Given the description of an element on the screen output the (x, y) to click on. 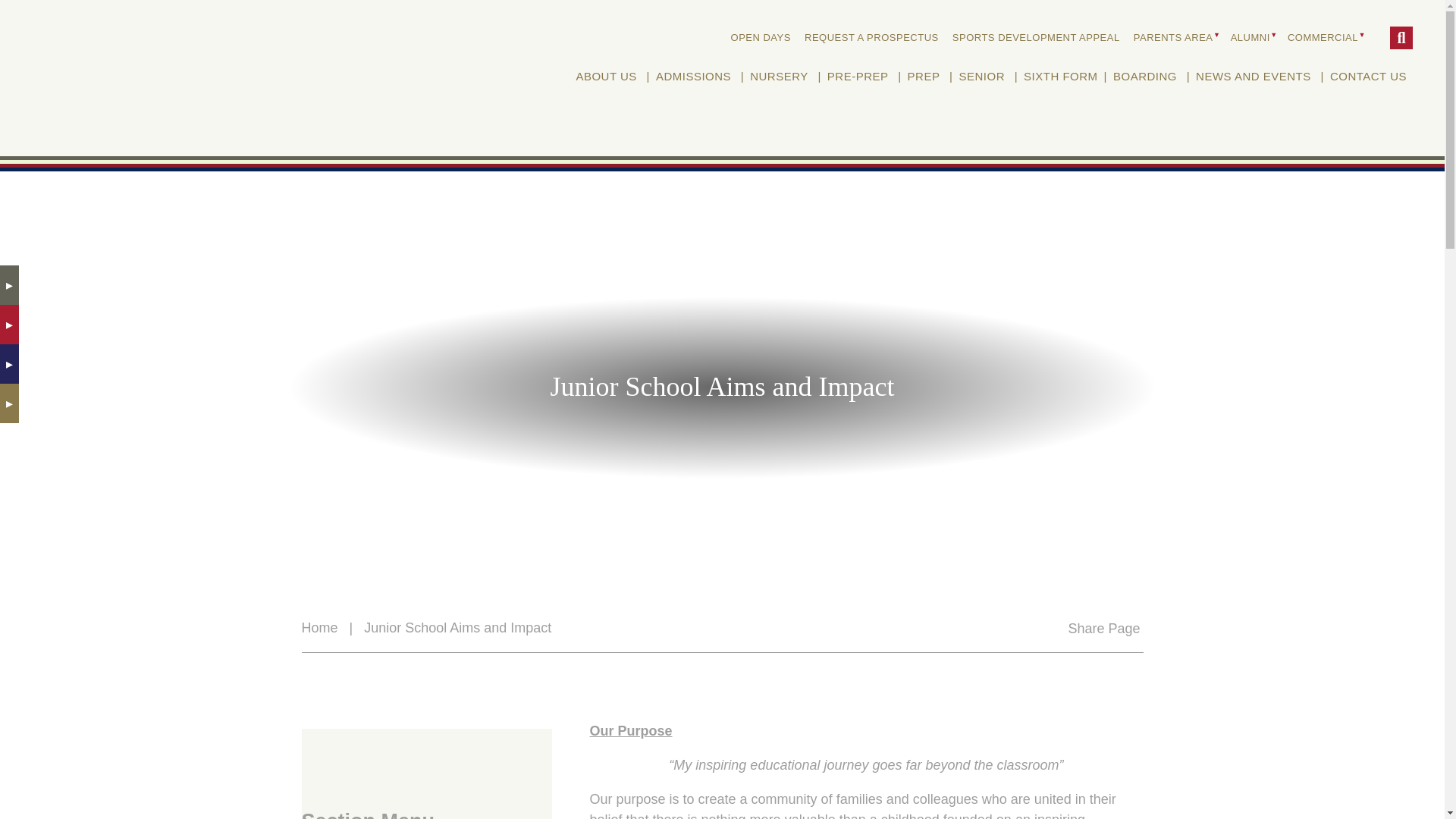
REQUEST A PROSPECTUS (871, 37)
ADMISSIONS (692, 76)
Search (1401, 37)
OPEN DAYS (760, 37)
ABOUT US (605, 76)
ALUMNI (1252, 37)
SPORTS DEVELOPMENT APPEAL (1036, 37)
COMMERCIAL (1324, 37)
Go to St Lawrence College Independent School. (319, 627)
PARENTS AREA (1175, 37)
